Given the description of an element on the screen output the (x, y) to click on. 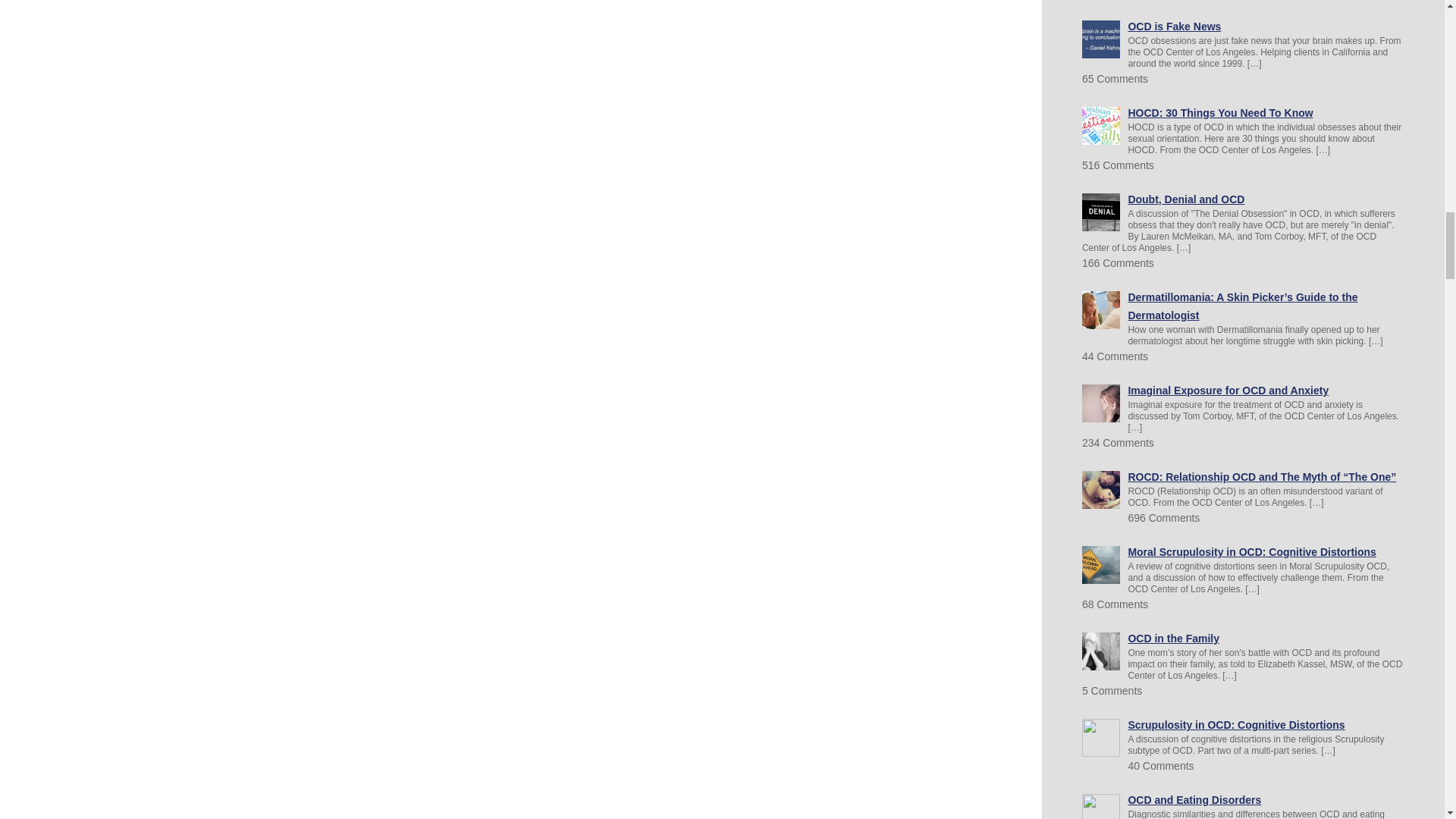
OCD is Fake News (1173, 26)
Imaginal Exposure for OCD and Anxiety (1226, 390)
HOCD: 30 Things You Need To Know (1219, 112)
Doubt, Denial and OCD (1185, 199)
